Given the description of an element on the screen output the (x, y) to click on. 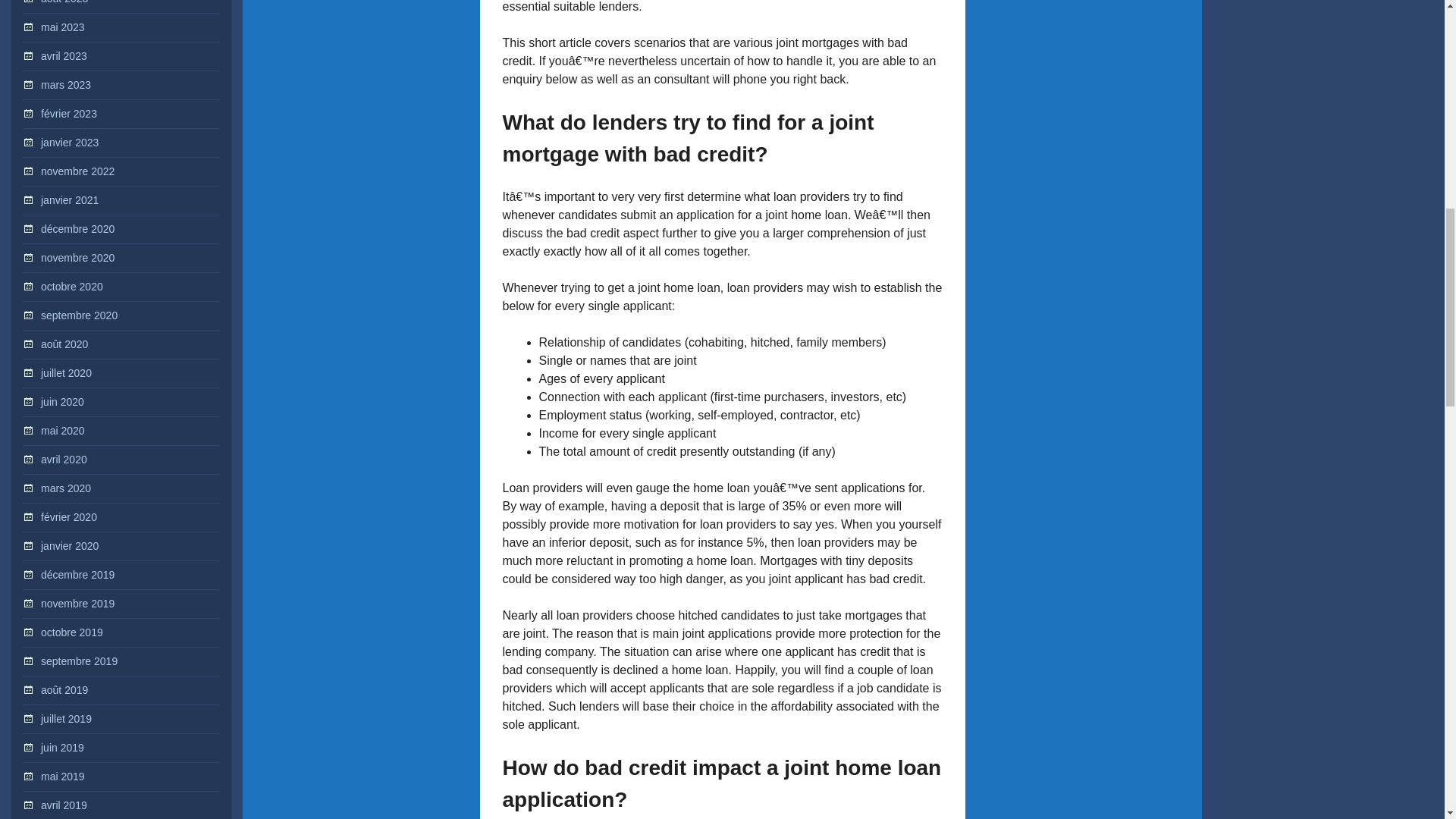
mai 2023 (62, 27)
octobre 2020 (71, 286)
janvier 2023 (69, 142)
mai 2020 (62, 430)
mars 2020 (65, 488)
novembre 2020 (77, 257)
octobre 2019 (71, 632)
mars 2023 (65, 84)
septembre 2019 (78, 661)
septembre 2020 (78, 315)
avril 2020 (63, 459)
janvier 2021 (69, 200)
novembre 2022 (77, 171)
juillet 2020 (65, 372)
novembre 2019 (77, 603)
